Given the description of an element on the screen output the (x, y) to click on. 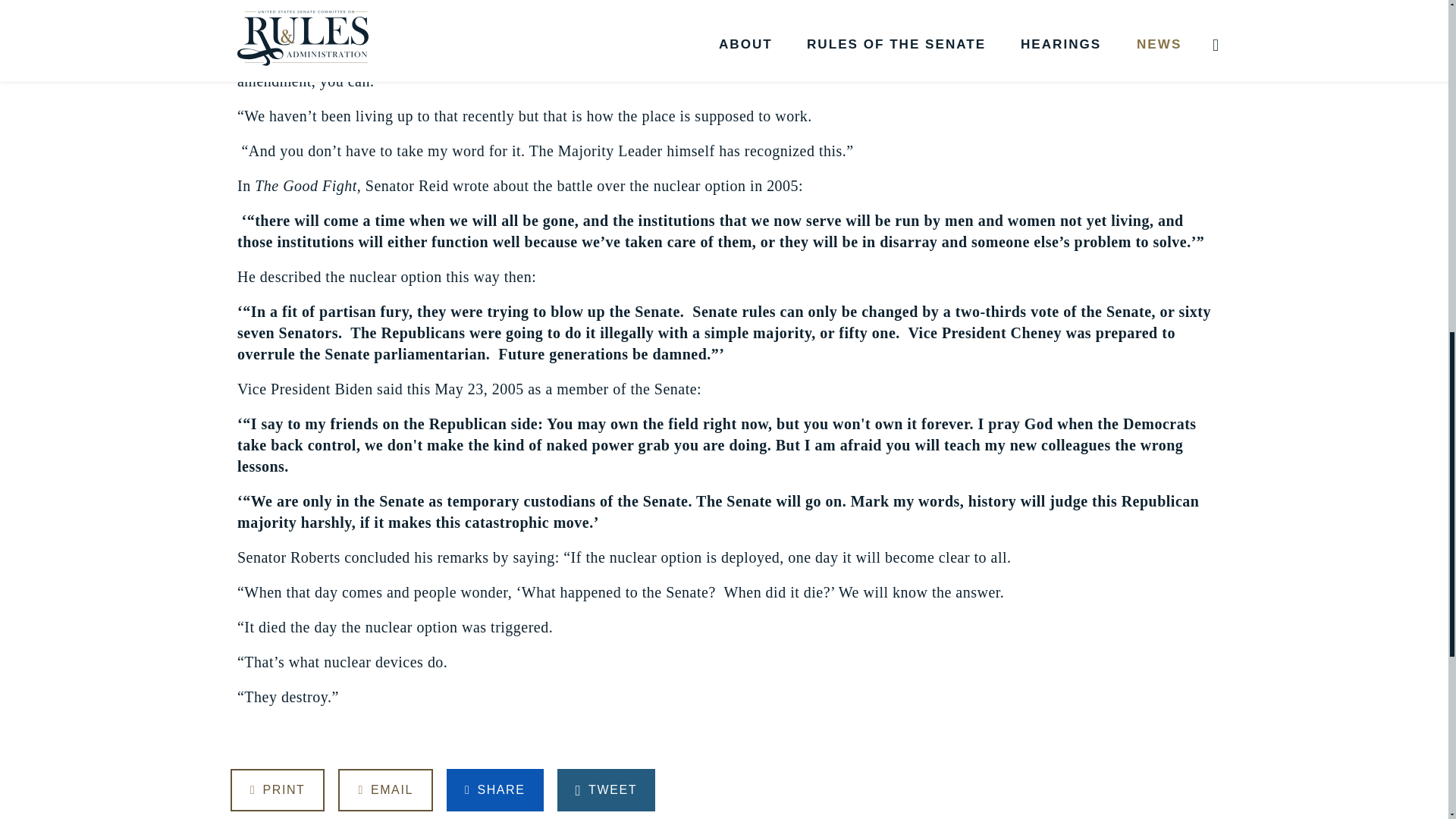
SHARE (494, 790)
PRINT (277, 790)
EMAIL (384, 790)
TWEET (605, 790)
